Given the description of an element on the screen output the (x, y) to click on. 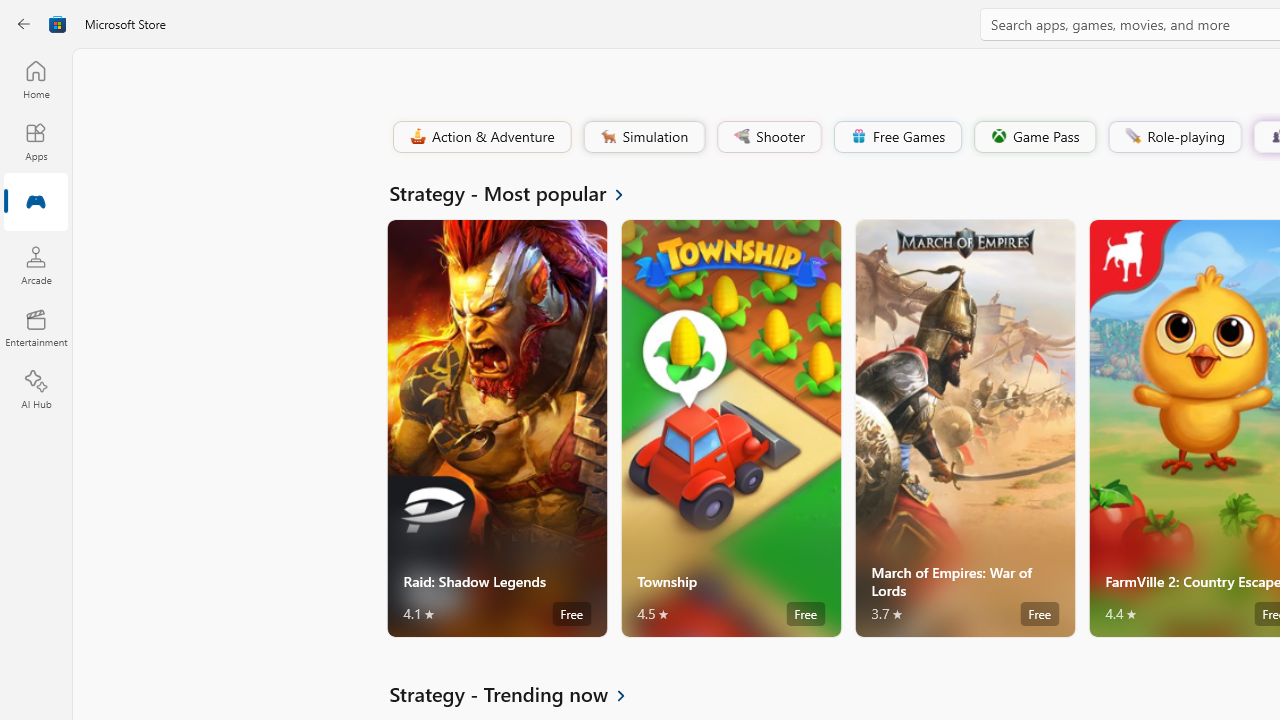
Class: Image (1132, 136)
See all  Strategy - Trending now (519, 693)
Game Pass (1033, 136)
Arcade (35, 265)
Back (24, 24)
Free Games (897, 136)
Township. Average rating of 4.5 out of five stars. Free   (730, 427)
Action & Adventure (480, 136)
See all  Strategy - Most popular (517, 192)
AI Hub (35, 390)
Role-playing (1174, 136)
Entertainment (35, 327)
Home (35, 79)
